Given the description of an element on the screen output the (x, y) to click on. 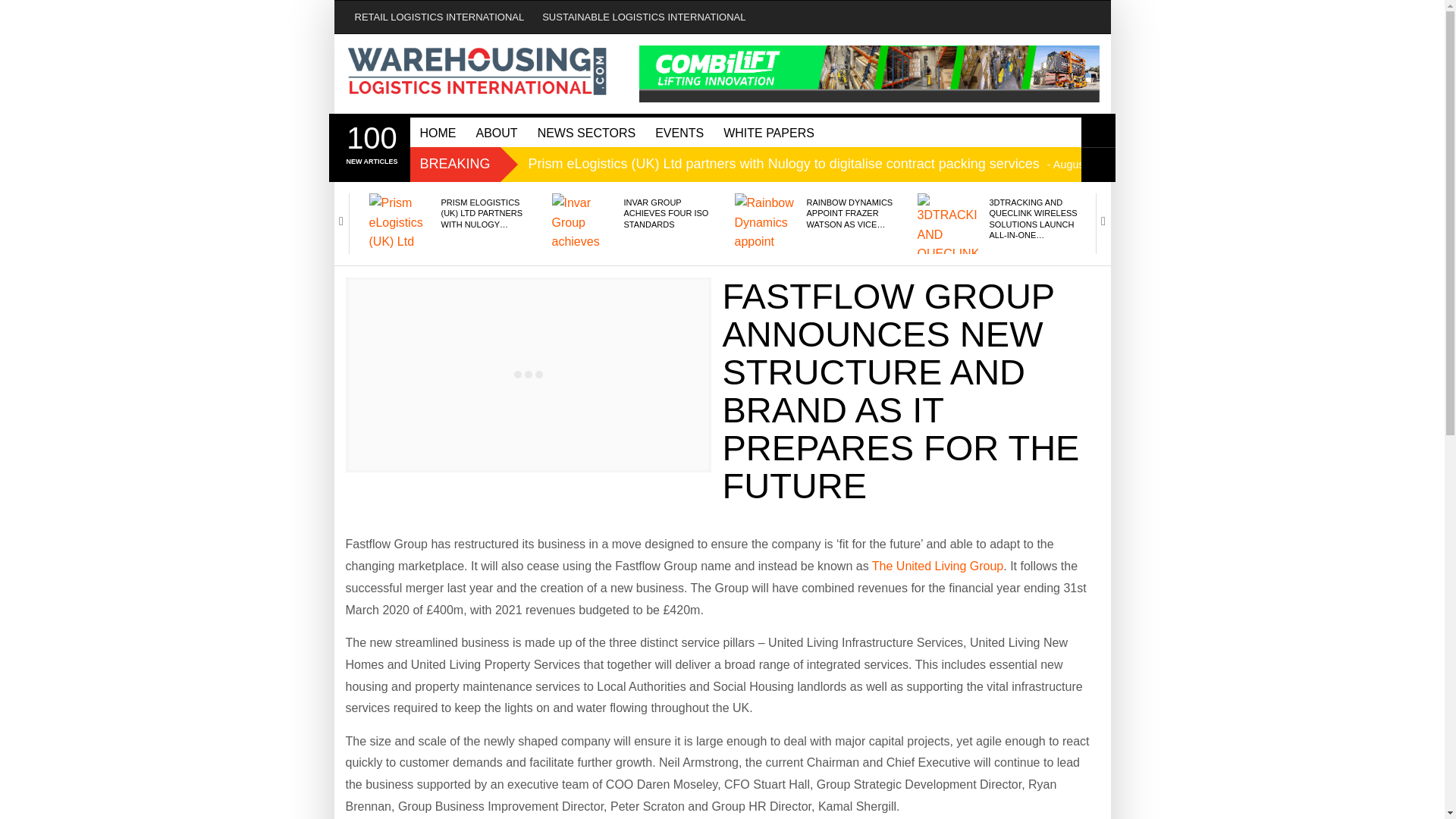
WHITE PAPERS (768, 132)
HOME (437, 132)
RETAIL LOGISTICS INTERNATIONAL (440, 16)
Warehousing Logistics International (478, 71)
Search (1098, 130)
NEWS SECTORS (586, 132)
EVENTS (679, 132)
ABOUT (496, 132)
SUSTAINABLE LOGISTICS INTERNATIONAL (643, 16)
Random (1098, 164)
